Given the description of an element on the screen output the (x, y) to click on. 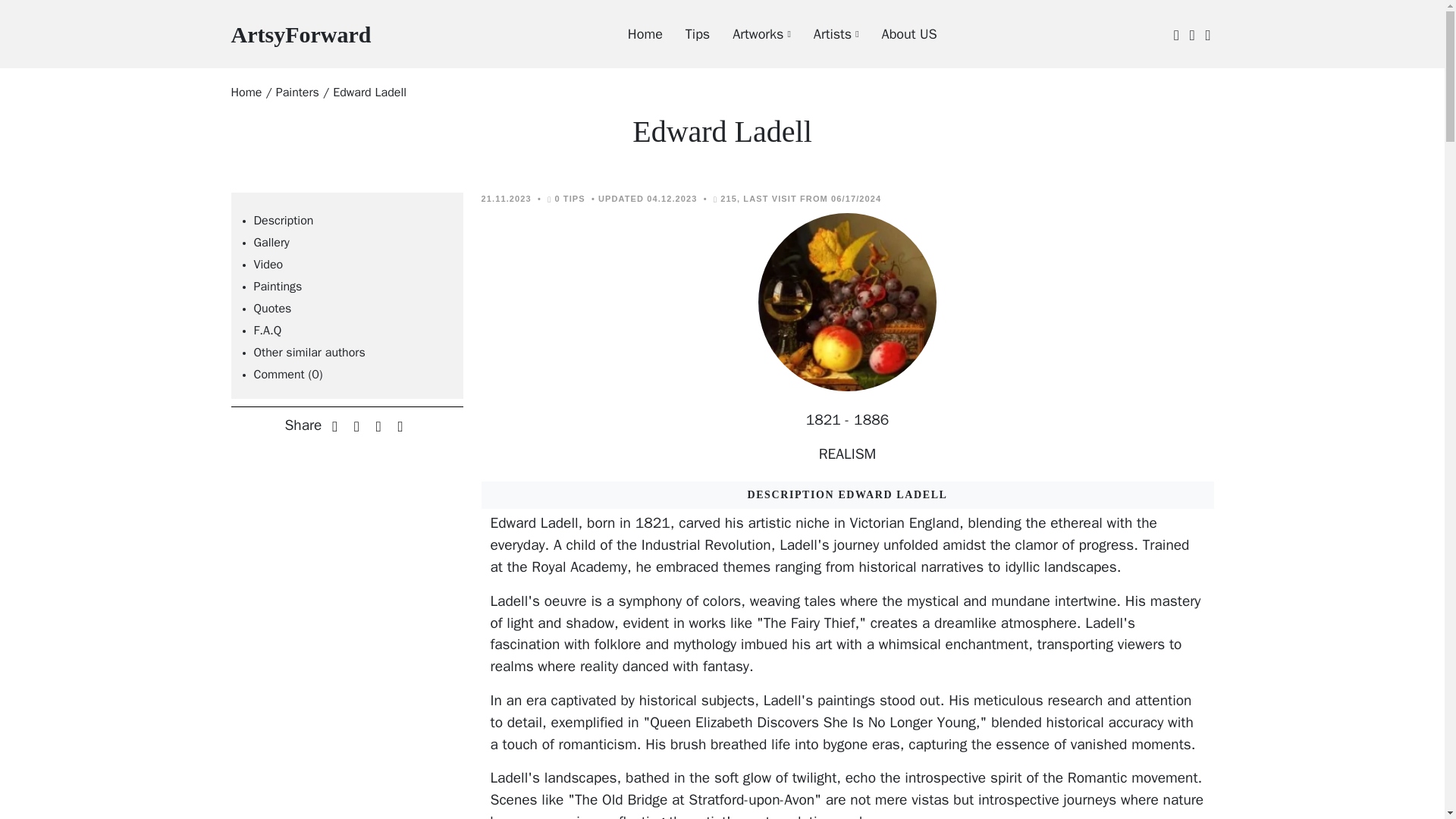
Description (283, 220)
Home (246, 92)
Quotes (272, 308)
Painters (297, 92)
Home (633, 34)
Artists (824, 34)
Paintings (277, 286)
F.A.Q (300, 33)
Artworks (267, 330)
